Given the description of an element on the screen output the (x, y) to click on. 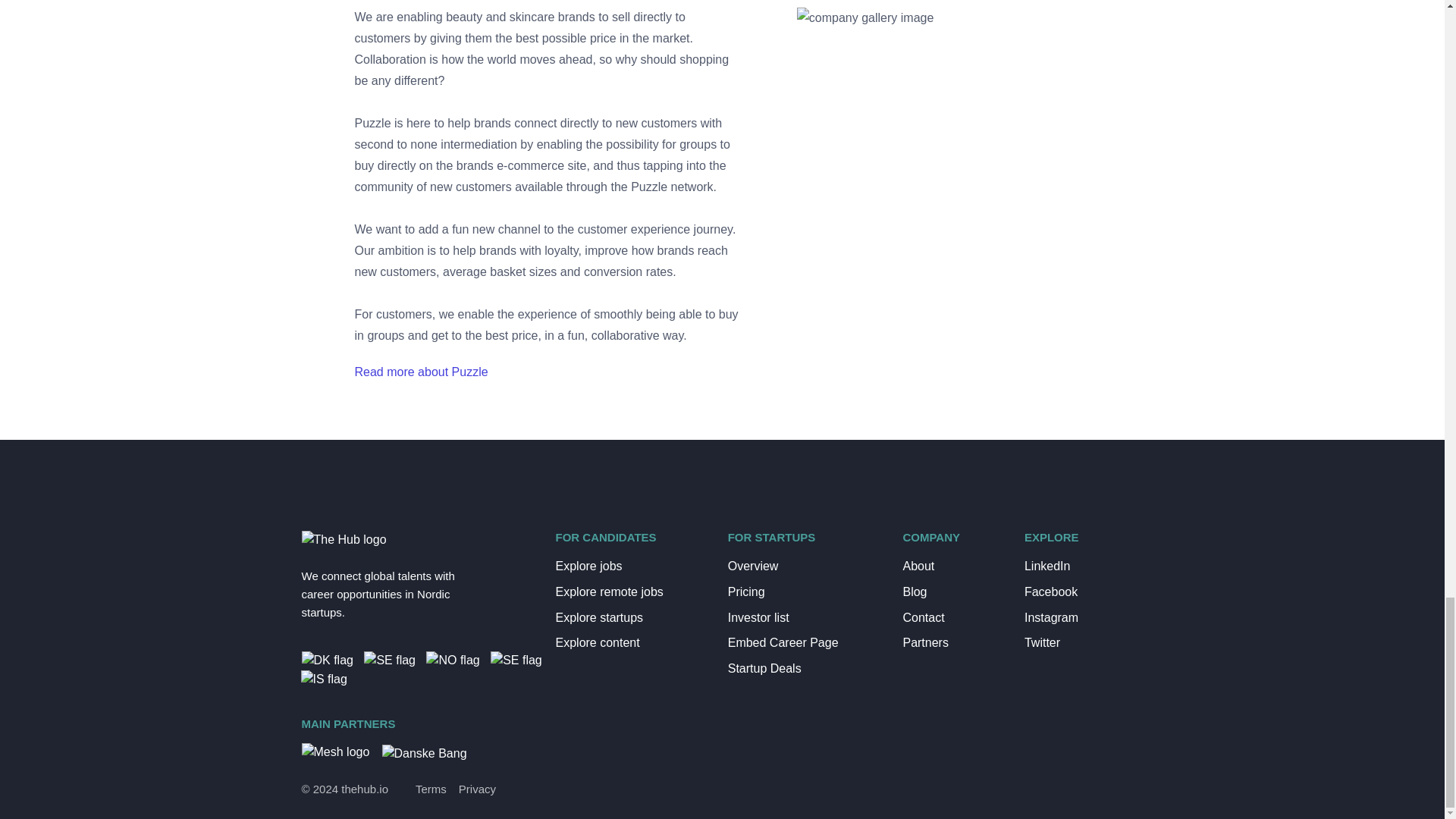
Pricing (803, 591)
Explore content (628, 642)
Blog (950, 591)
Read more about Puzzle (421, 371)
Privacy (477, 789)
Startup Deals (803, 668)
Contact (950, 618)
Terms (430, 789)
Twitter (1072, 642)
Embed Career Page (803, 642)
About (950, 566)
Facebook (1072, 591)
Overview (803, 566)
LinkedIn (1072, 566)
Partners (950, 642)
